Given the description of an element on the screen output the (x, y) to click on. 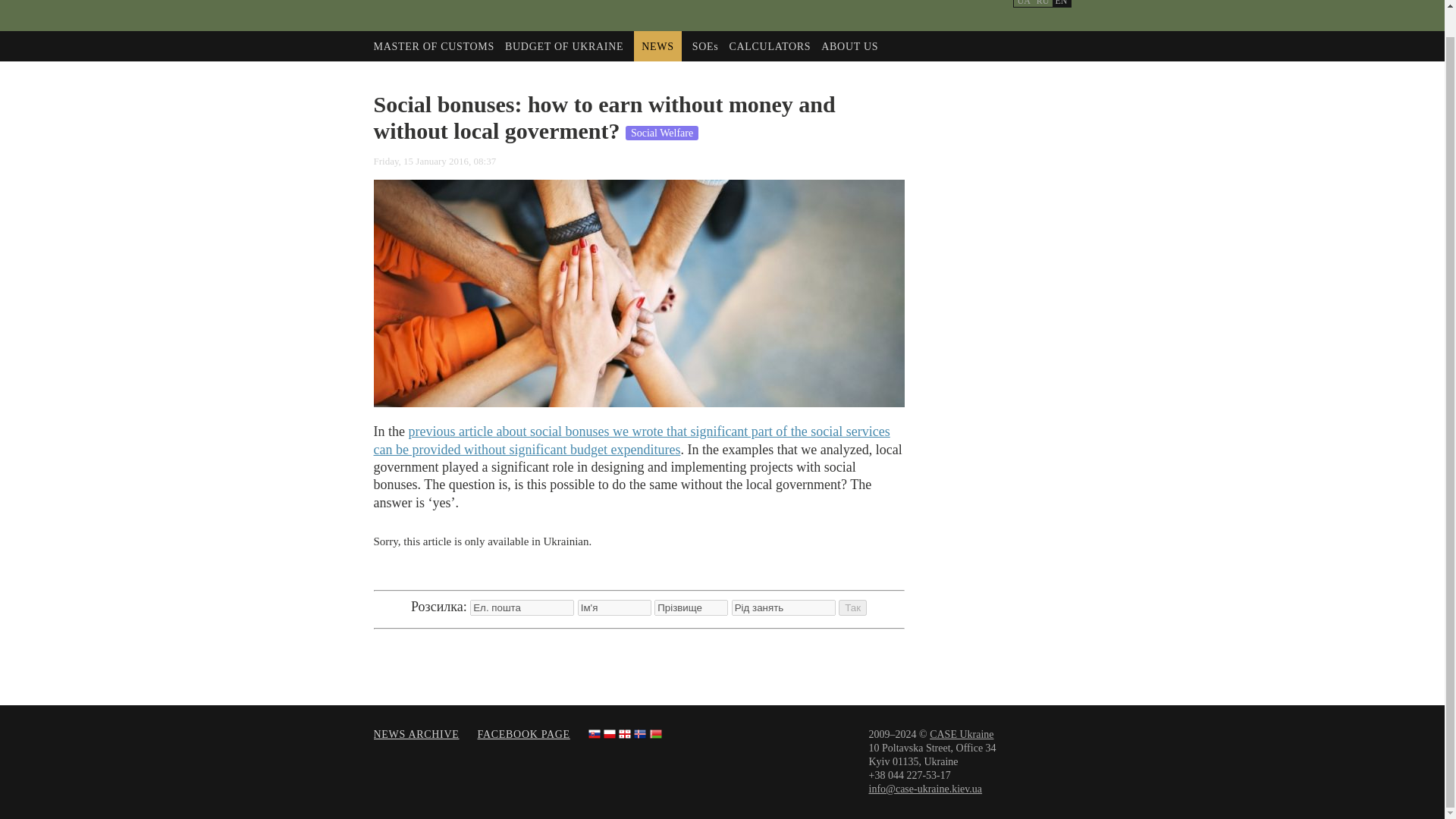
ABOUT US (849, 46)
Social Welfare (662, 133)
CALCULATORS (769, 46)
FACEBOOK PAGE (523, 734)
RU (1042, 2)
MASTER OF CUSTOMS (432, 46)
SOEs (706, 46)
CASE Ukraine (961, 734)
BUDGET OF UKRAINE (564, 46)
NEWS ARCHIVE (415, 734)
UA (1022, 2)
NEWS (657, 46)
